Given the description of an element on the screen output the (x, y) to click on. 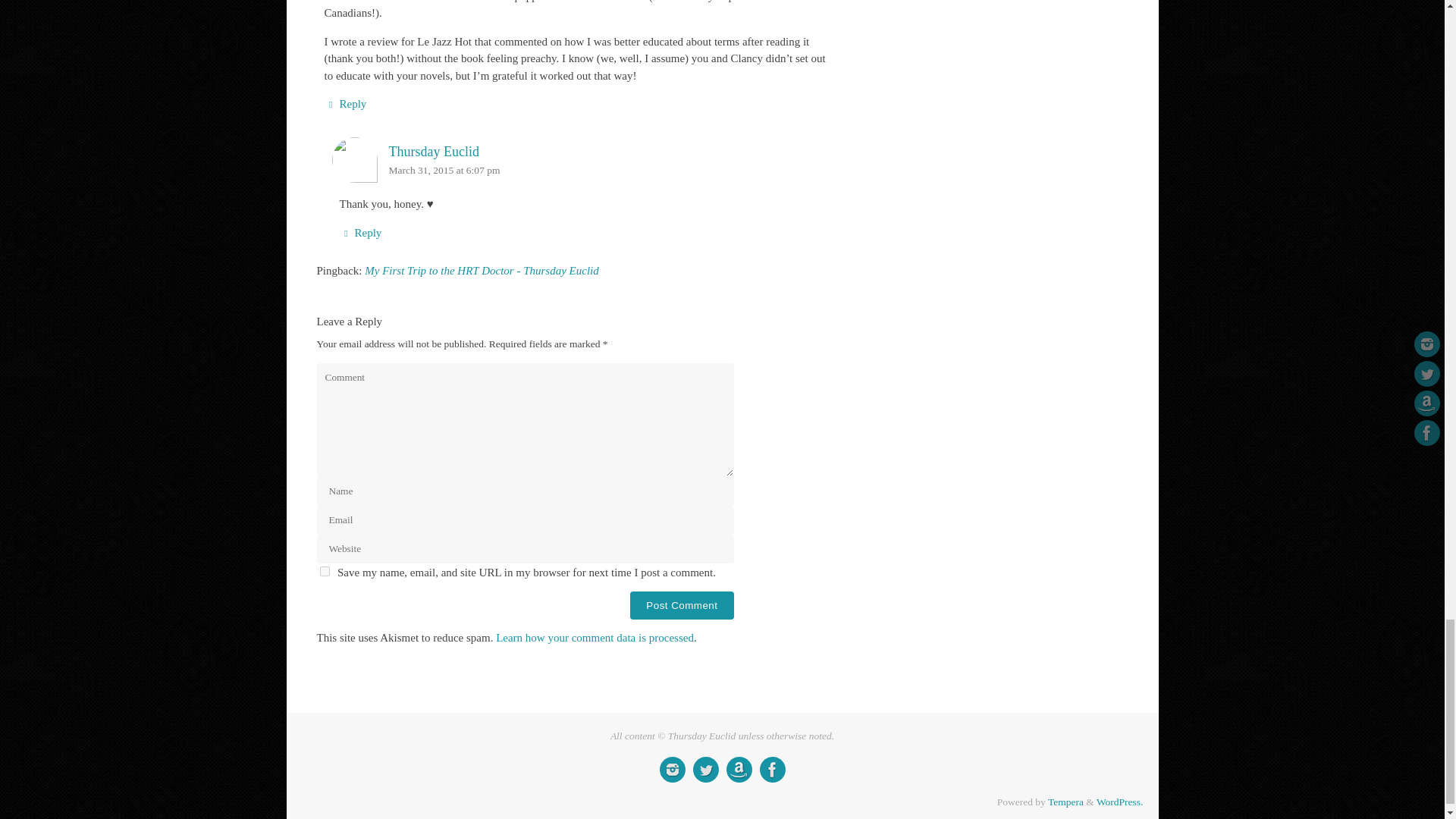
yes (325, 571)
Post Comment (681, 605)
Facebook (773, 769)
Twitter (706, 769)
Amazon (739, 769)
Instagram (672, 769)
